Given the description of an element on the screen output the (x, y) to click on. 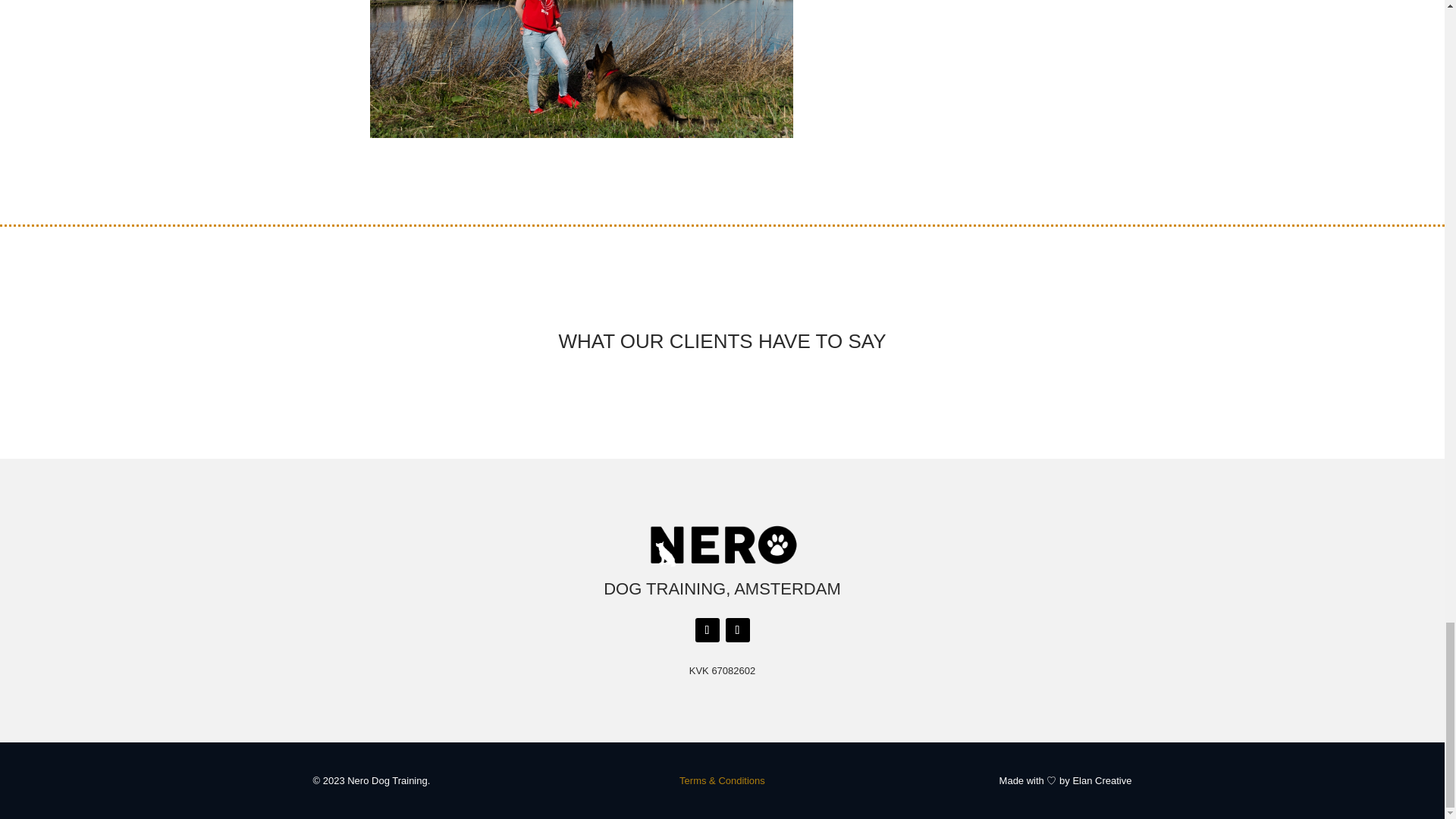
Follow on Instagram (737, 630)
Follow on Facebook (706, 630)
